Given the description of an element on the screen output the (x, y) to click on. 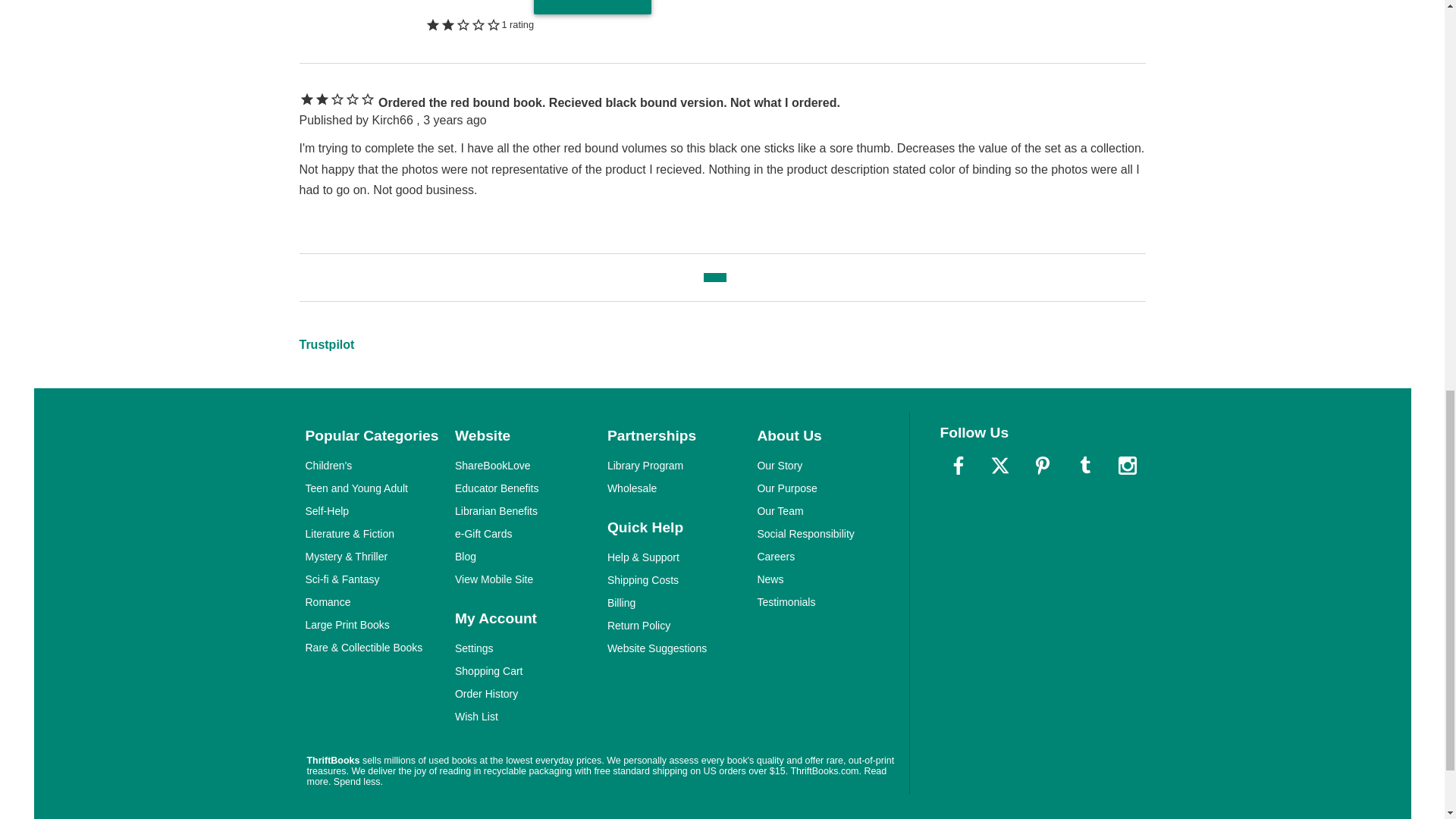
ShareBookLove (492, 465)
Teen and Young Adult (355, 488)
Follow us on Tumblr (1085, 465)
Follow us on Instagram (1126, 465)
e-Gift Cards (483, 533)
Librarian Benefits (495, 510)
Romance (327, 602)
Educator Benefits (496, 488)
Order History (486, 693)
Like us on Facebook (958, 465)
